Given the description of an element on the screen output the (x, y) to click on. 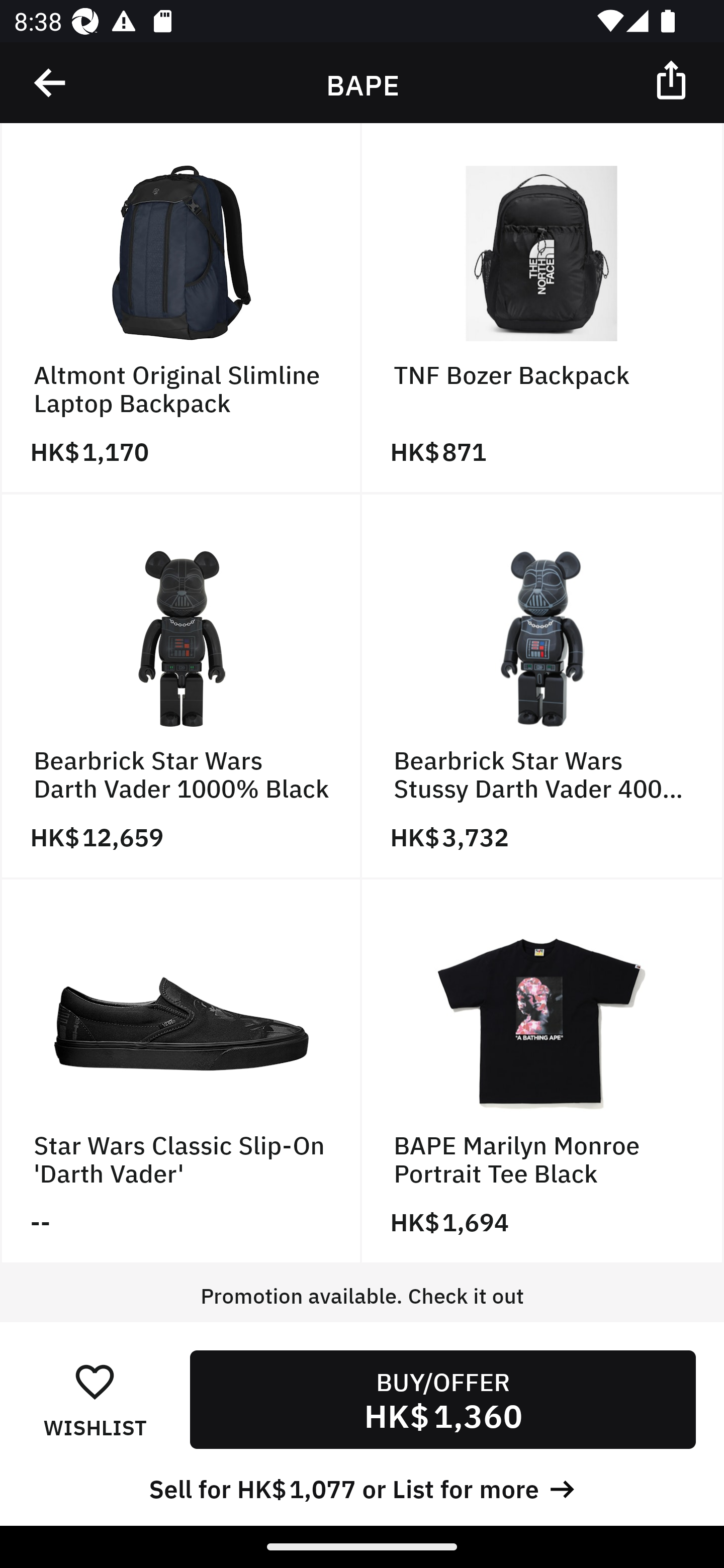
 (50, 83)
 (672, 79)
TNF Bozer Backpack HK$ 871 (543, 308)
Star Wars Classic Slip-On 'Darth Vader' -- (181, 1071)
BAPE Marilyn Monroe Portrait Tee Black HK$ 1,694 (543, 1071)
BUY/OFFER HK$ 1,360 (442, 1399)
󰋕 (94, 1380)
Sell for HK$ 1,077 or List for more (361, 1486)
